Given the description of an element on the screen output the (x, y) to click on. 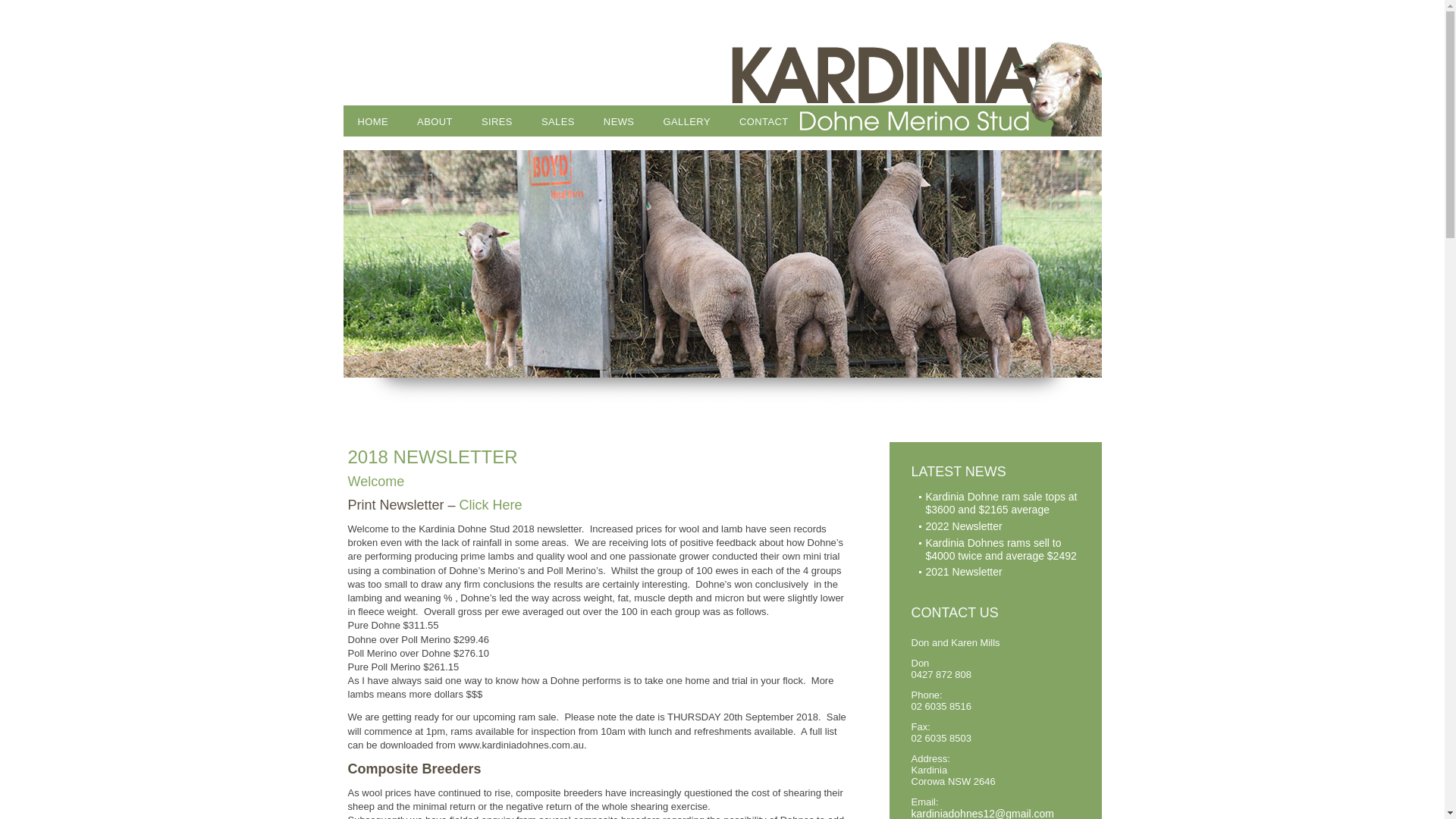
SALES Element type: text (558, 121)
2021 Newsletter Element type: text (963, 571)
CONTACT Element type: text (763, 121)
Kardinia Dohnes rams sell to $4000 twice and average $2492 Element type: text (1000, 548)
SIRES Element type: text (497, 121)
HOME Element type: text (372, 121)
GALLERY Element type: text (686, 121)
2022 Newsletter Element type: text (963, 526)
Kardinia Dohne ram sale tops at $3600 and $2165 average Element type: text (1000, 502)
NEWS Element type: text (619, 121)
Click Here Element type: text (490, 504)
ABOUT Element type: text (434, 121)
